Given the description of an element on the screen output the (x, y) to click on. 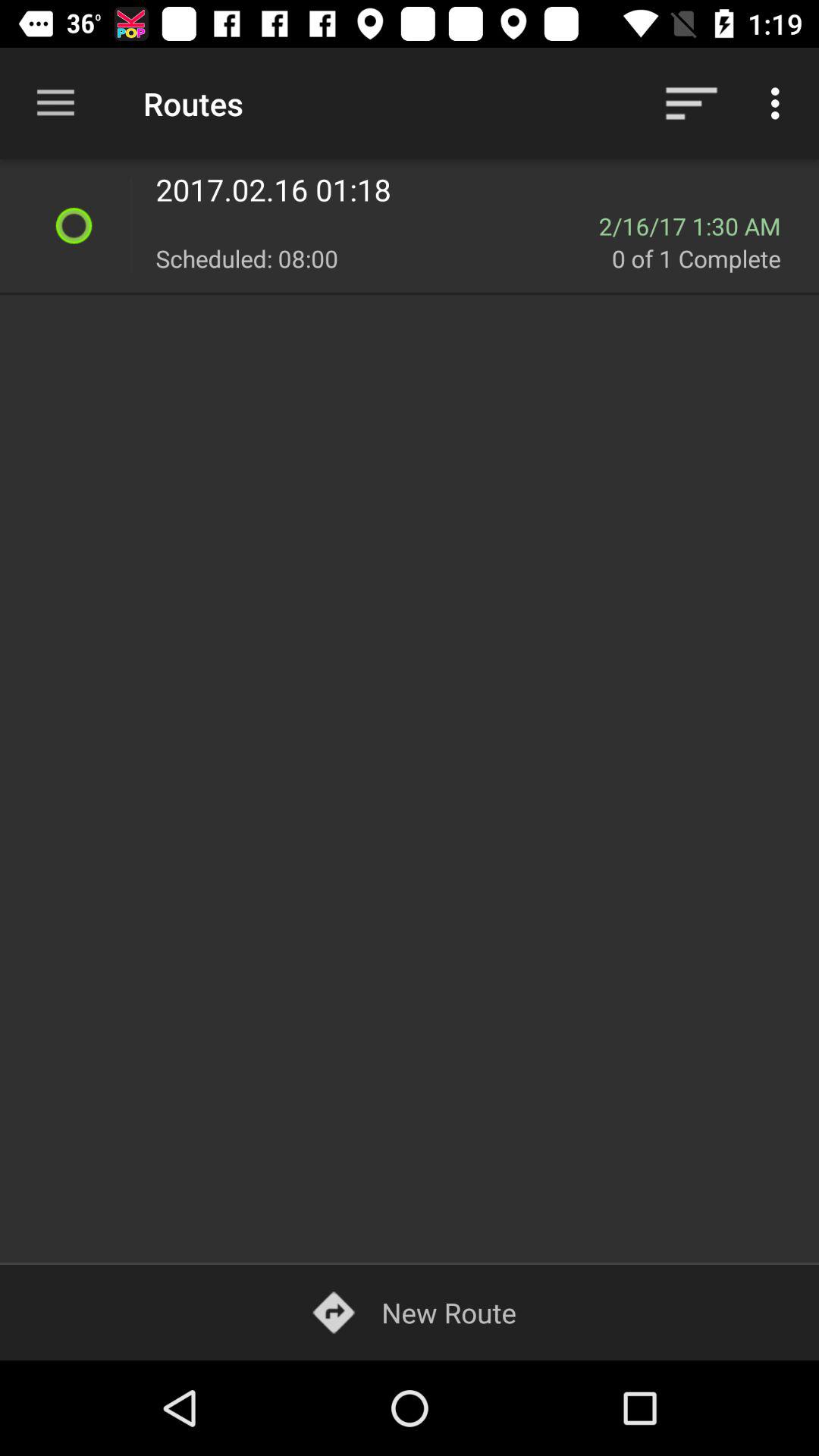
tap the icon below 2 16 17 icon (705, 258)
